Given the description of an element on the screen output the (x, y) to click on. 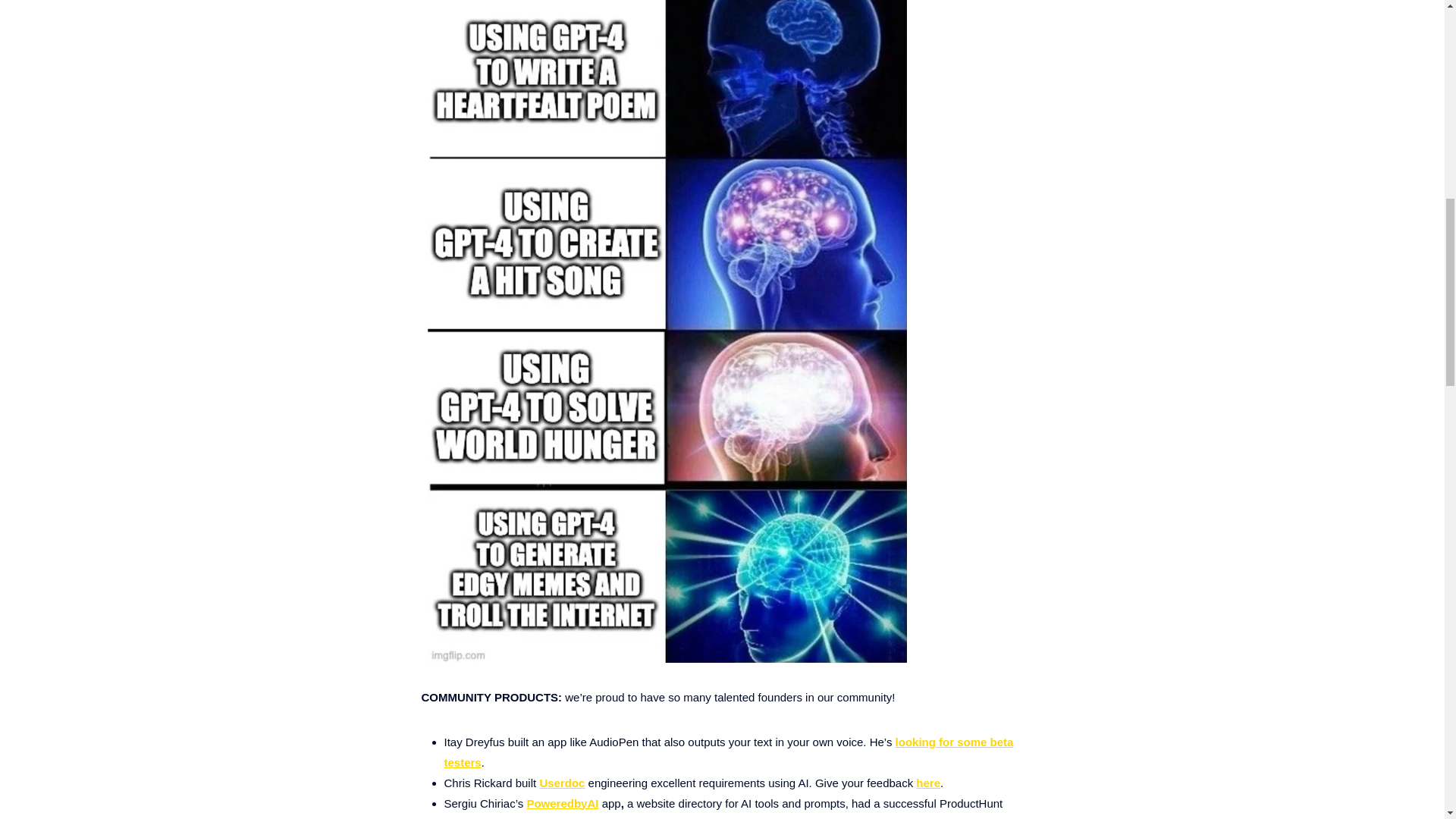
Userdoc (561, 782)
looking for some beta testers (728, 752)
here (927, 782)
PoweredbyAI (561, 802)
